Given the description of an element on the screen output the (x, y) to click on. 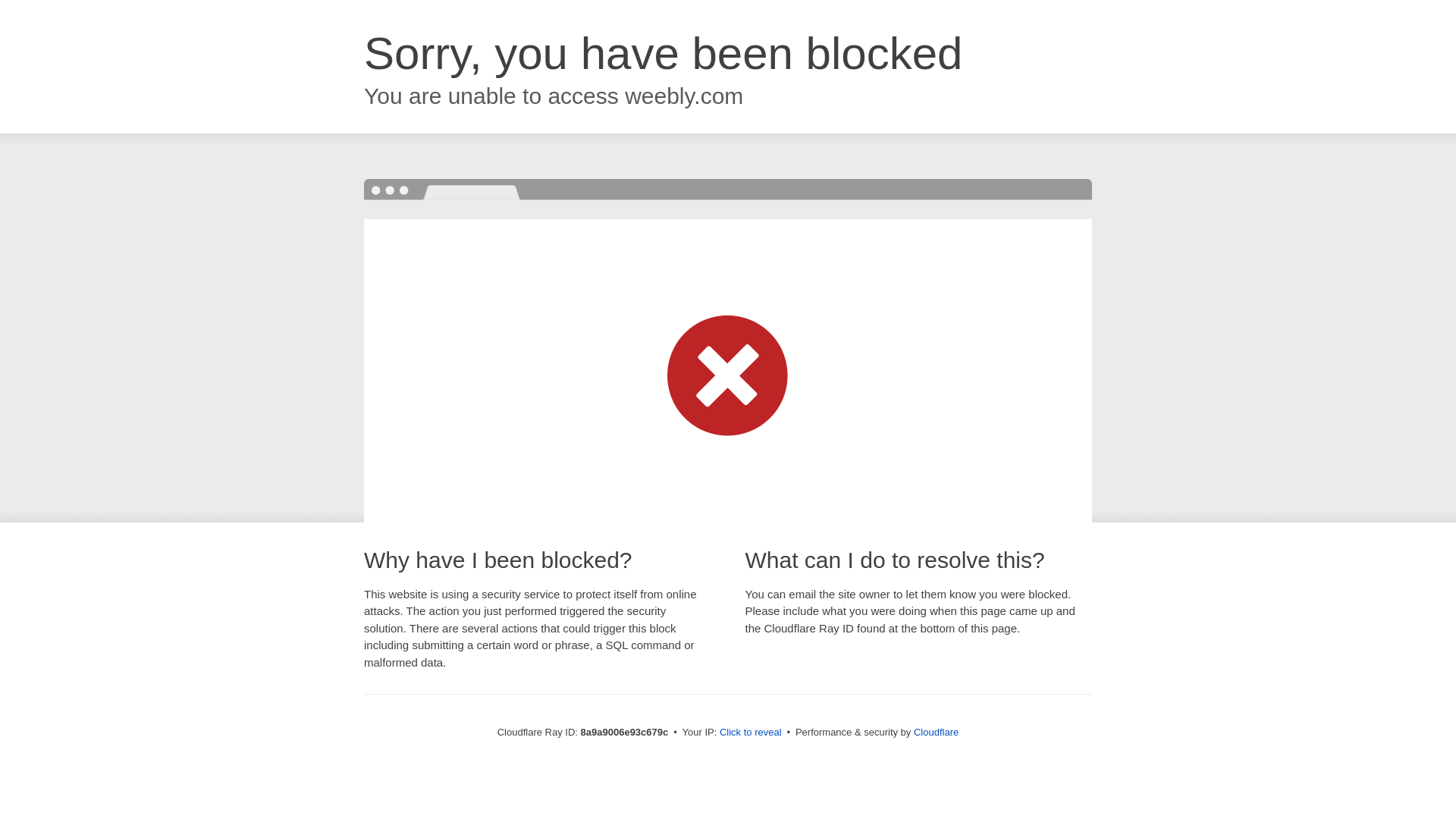
Cloudflare (936, 731)
Click to reveal (750, 732)
